Given the description of an element on the screen output the (x, y) to click on. 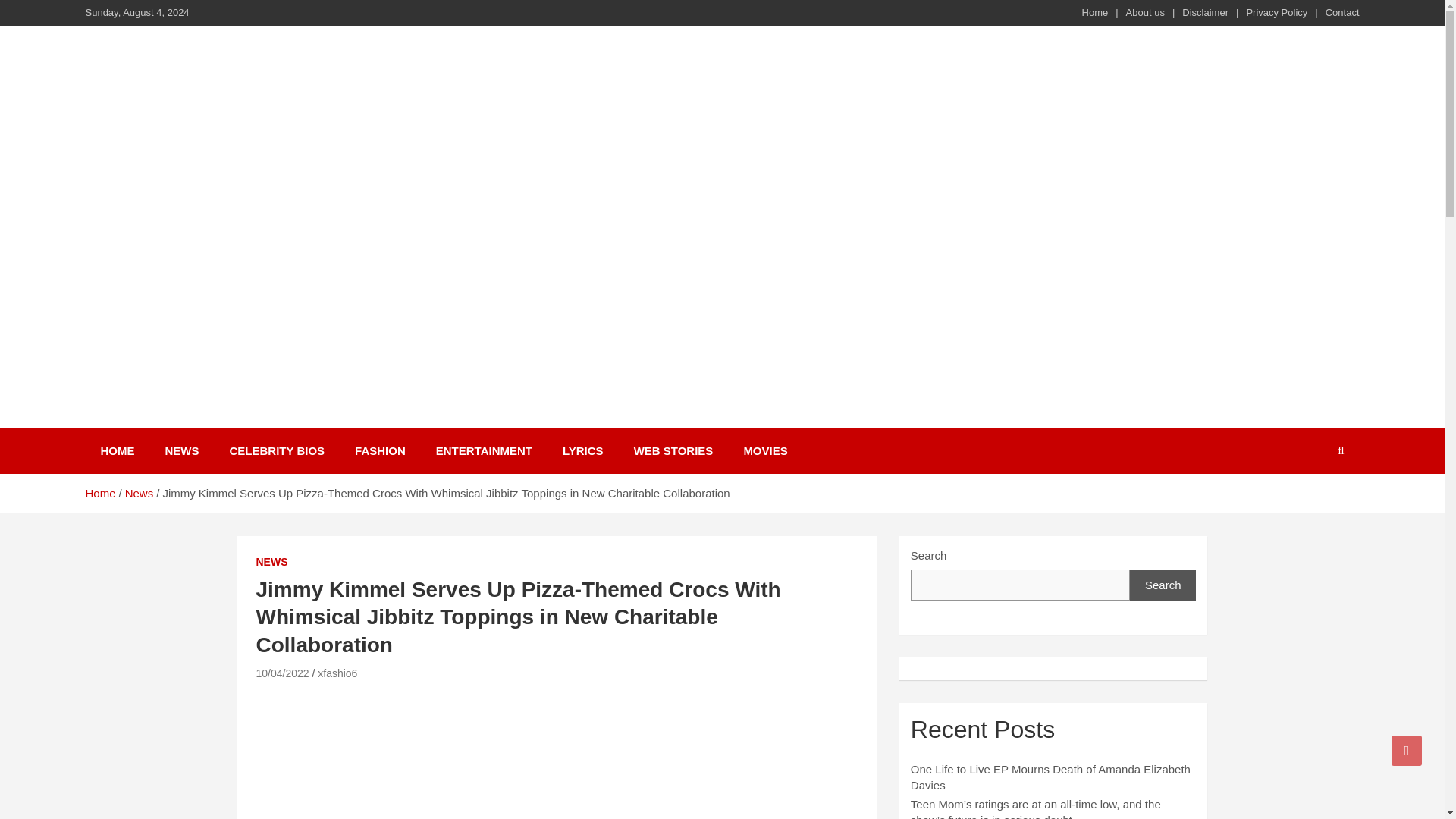
FASHION (379, 450)
NEWS (272, 562)
NEWS (181, 450)
About us (1144, 12)
One Life to Live EP Mourns Death of Amanda Elizabeth Davies (1051, 776)
HollyNewsToday (204, 424)
Disclaimer (1205, 12)
xfashio6 (336, 673)
MOVIES (765, 450)
HOME (116, 450)
Home (99, 492)
Privacy Policy (1276, 12)
CELEBRITY BIOS (276, 450)
Home (1094, 12)
